Given the description of an element on the screen output the (x, y) to click on. 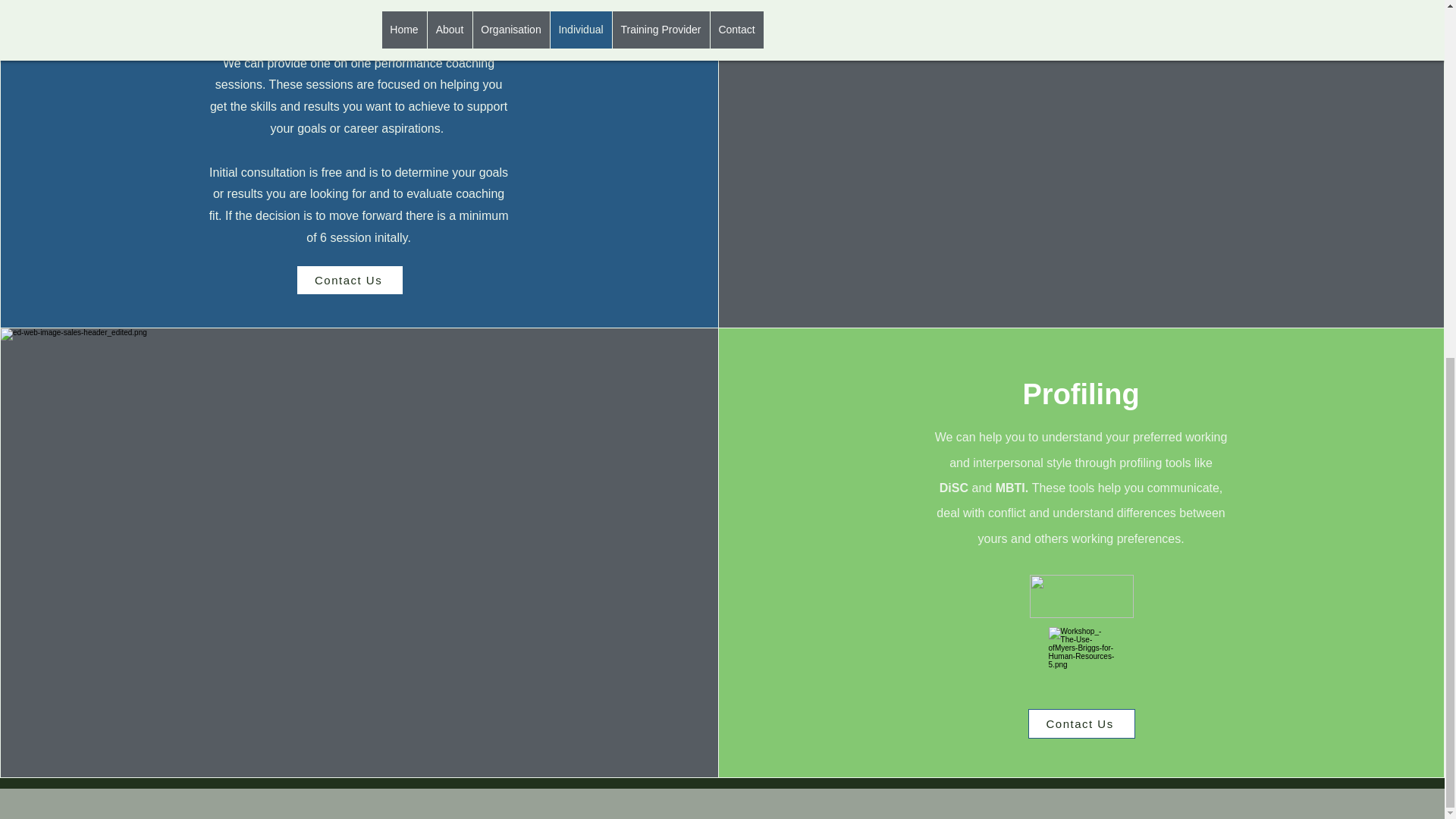
Everything DiSC Logo.jpg (1081, 596)
Contact Us (350, 279)
Contact Us (1081, 723)
